Given the description of an element on the screen output the (x, y) to click on. 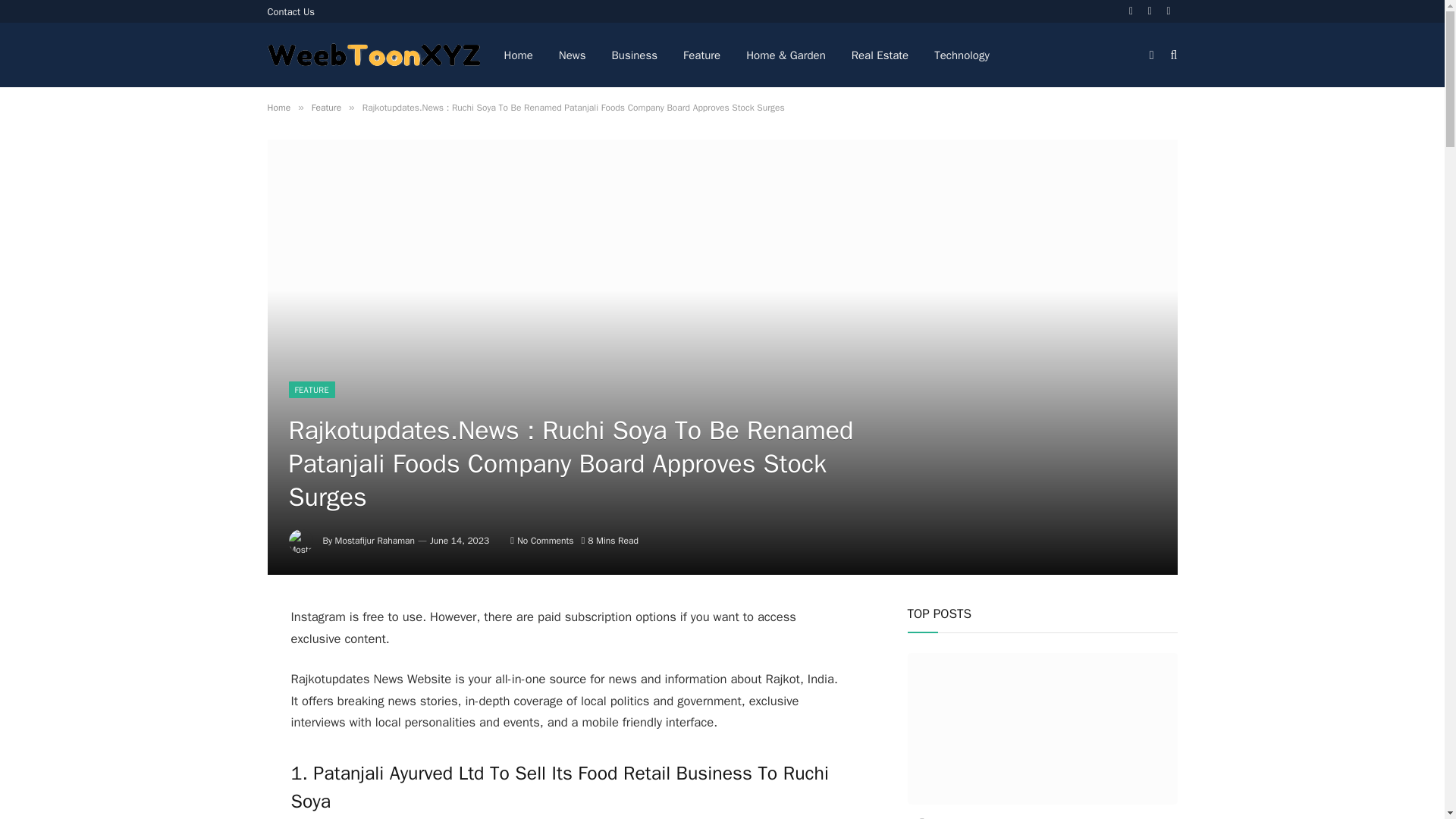
Business (634, 54)
Feature (701, 54)
Feature (325, 107)
Technology (962, 54)
Switch to Dark Design - easier on eyes. (1151, 54)
Real Estate (879, 54)
Home (277, 107)
Posts by Mostafijur Rahaman (374, 540)
Contact Us (290, 11)
